Given the description of an element on the screen output the (x, y) to click on. 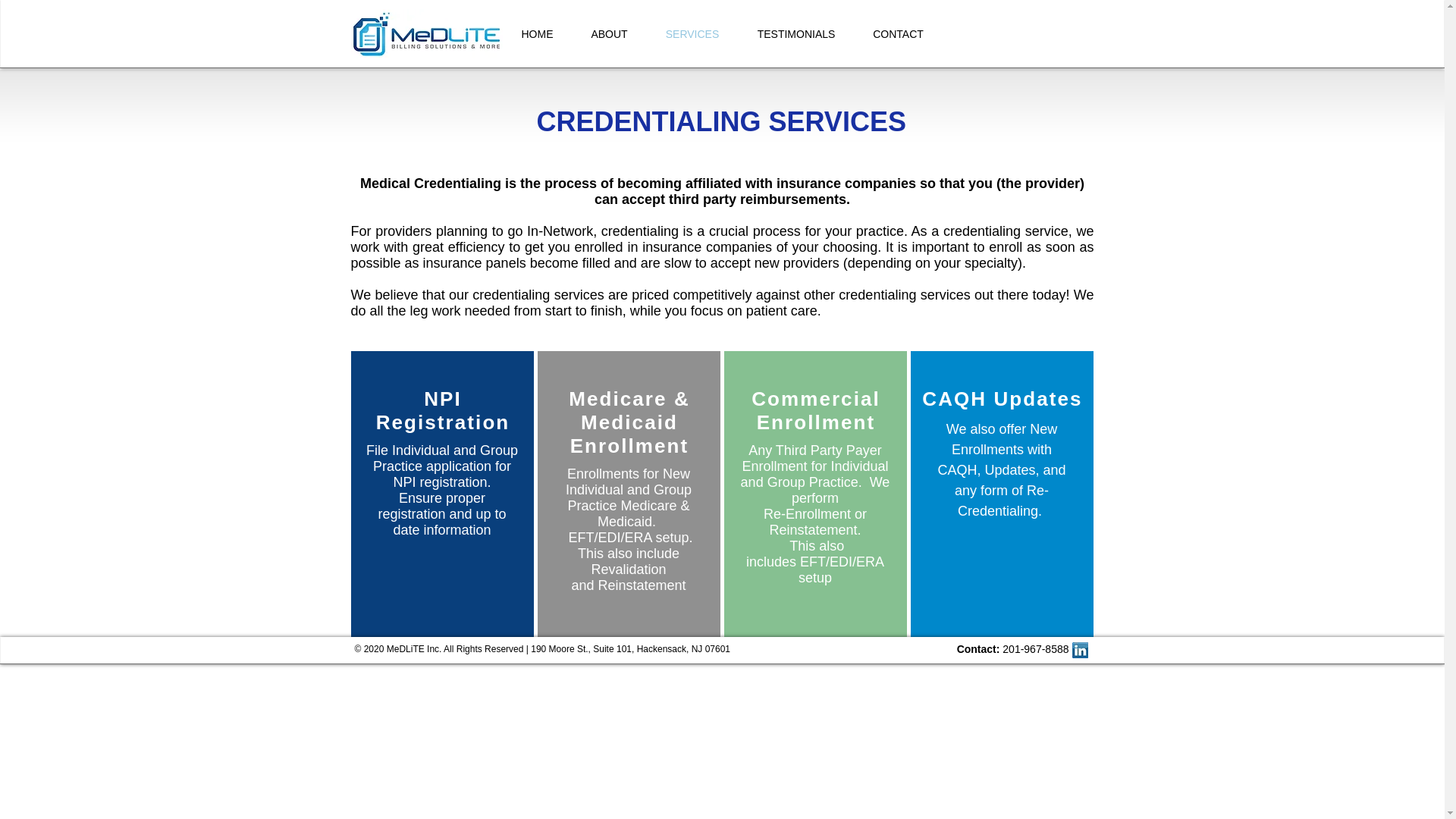
SERVICES (692, 33)
HOME (537, 33)
CONTACT (897, 33)
ABOUT (609, 33)
TESTIMONIALS (796, 33)
